Given the description of an element on the screen output the (x, y) to click on. 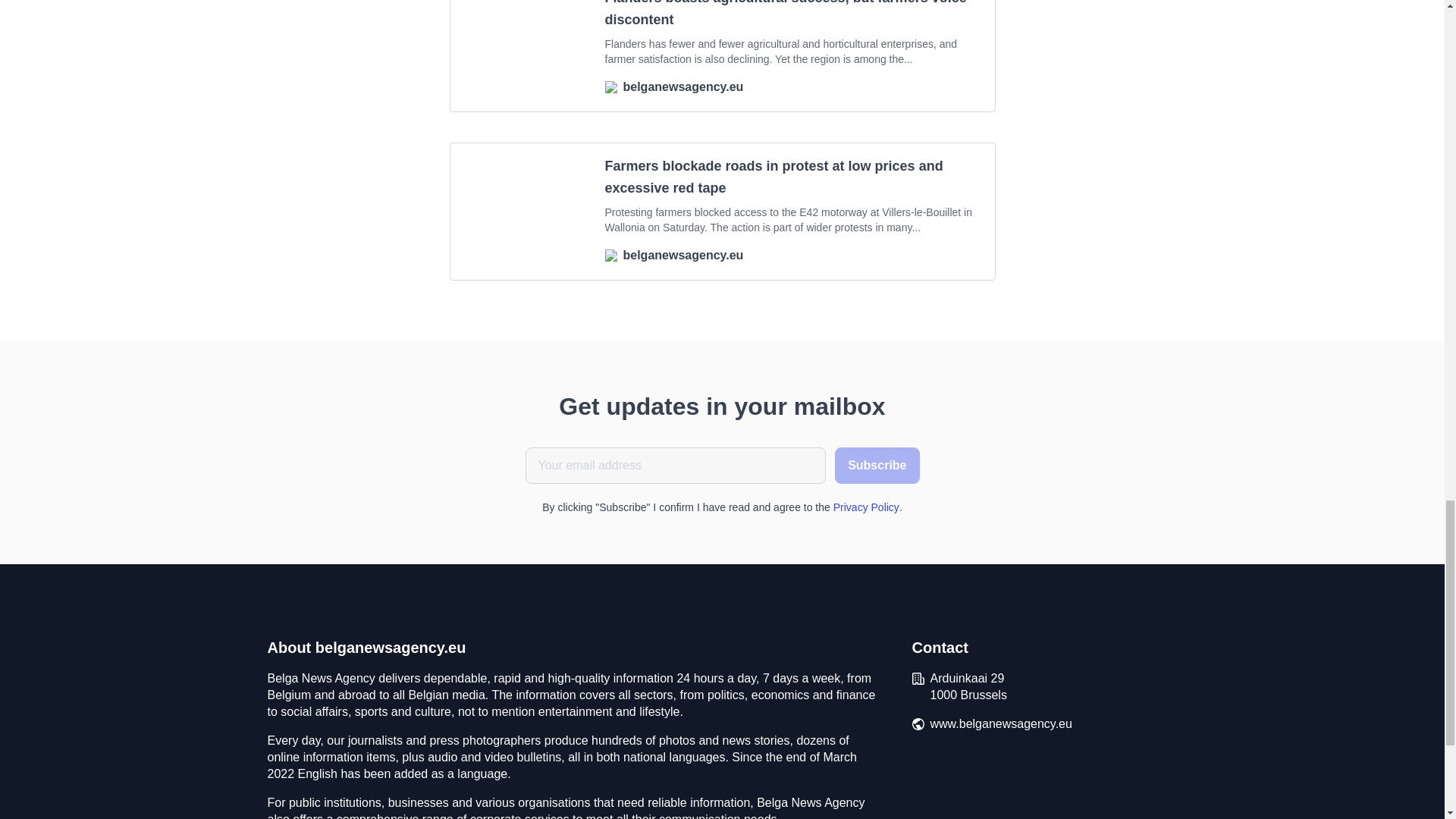
belganewsagency.eu (790, 86)
Privacy Policy (865, 507)
belganewsagency.eu (790, 255)
www.belganewsagency.eu (1000, 723)
Subscribe (876, 465)
